Given the description of an element on the screen output the (x, y) to click on. 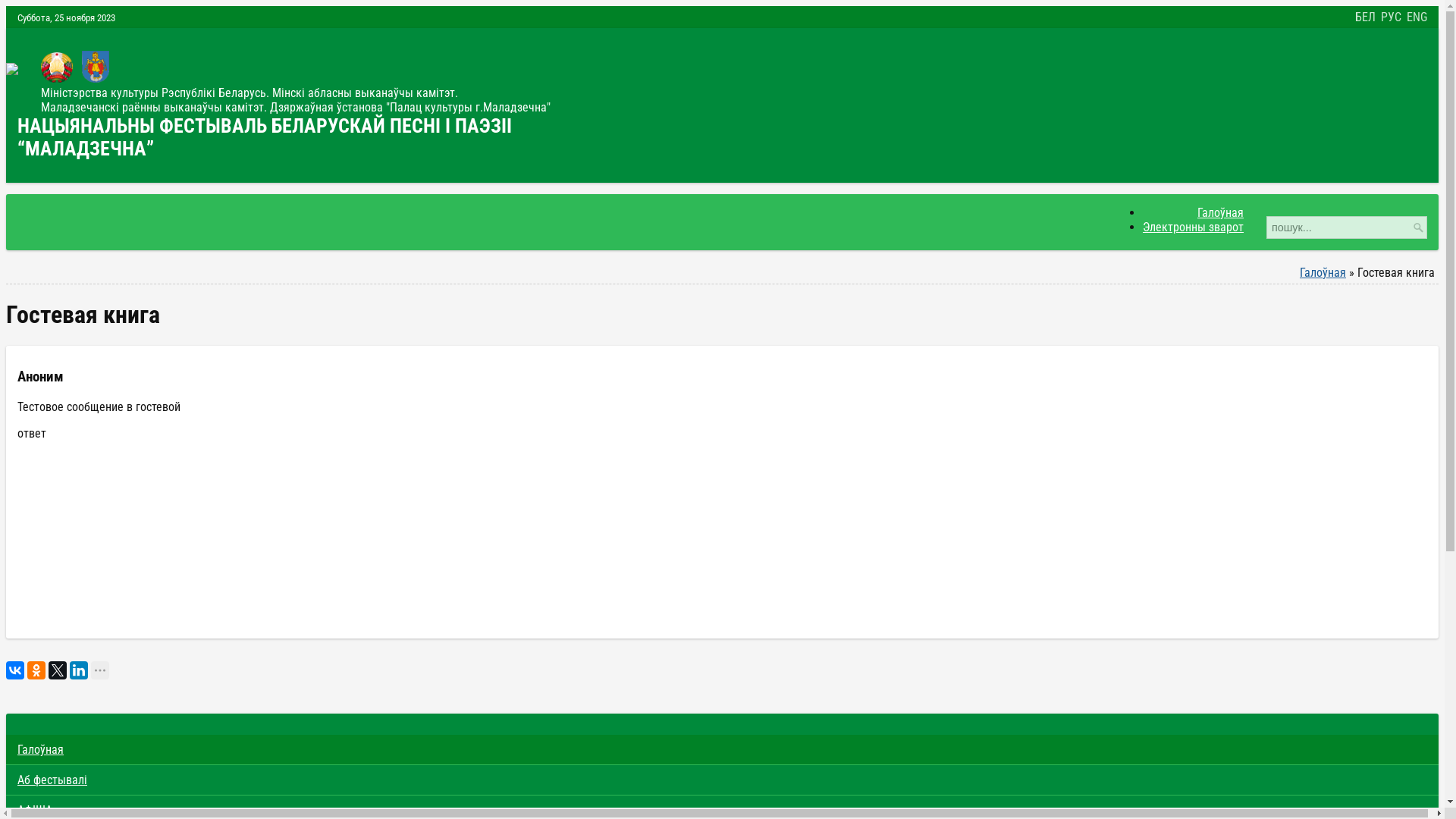
ENG Element type: text (1416, 16)
LinkedIn Element type: hover (78, 670)
Twitter Element type: hover (57, 670)
